Given the description of an element on the screen output the (x, y) to click on. 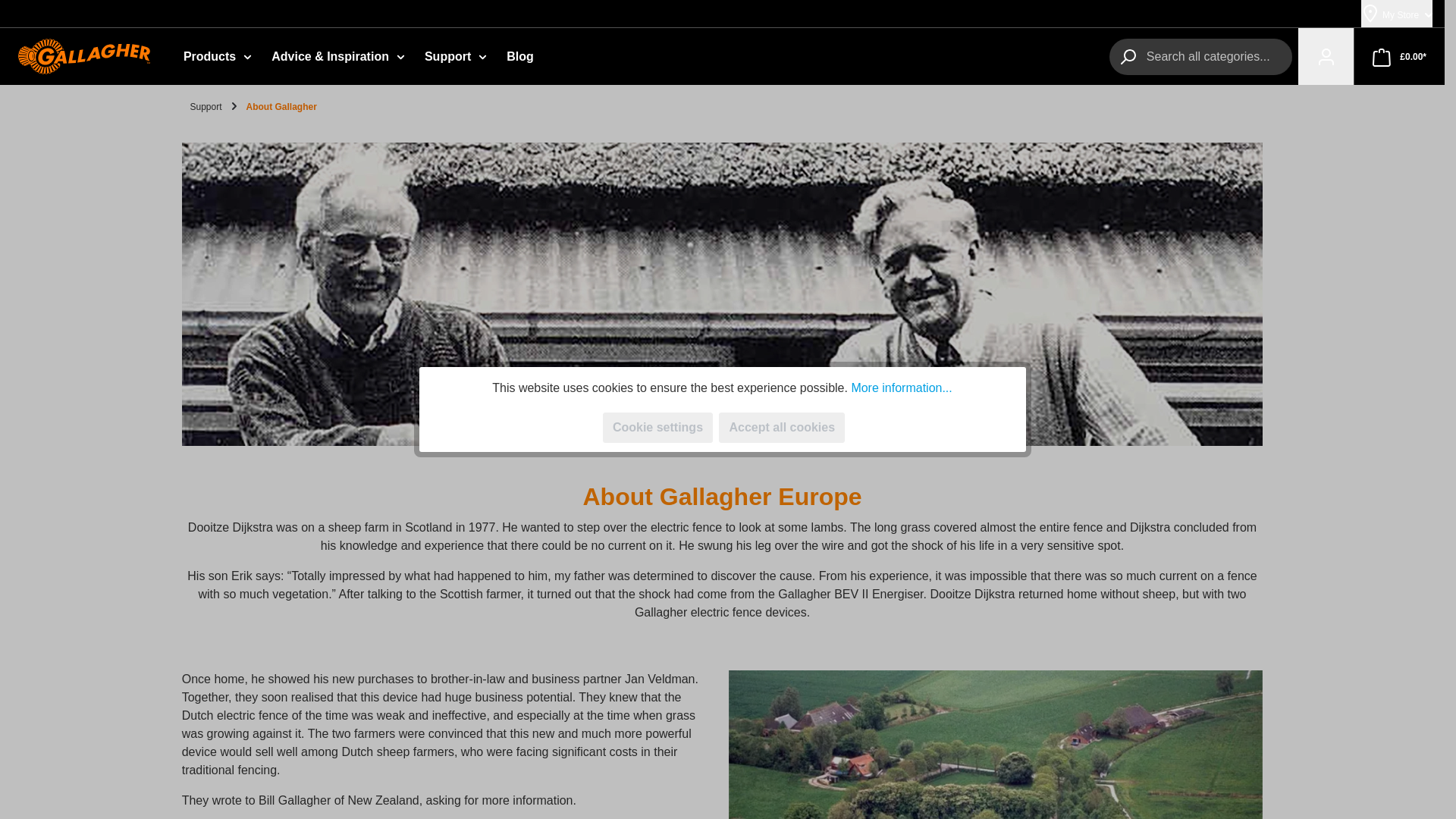
Products (218, 56)
My Store (1396, 13)
Go to homepage (86, 56)
Products (218, 56)
